Given the description of an element on the screen output the (x, y) to click on. 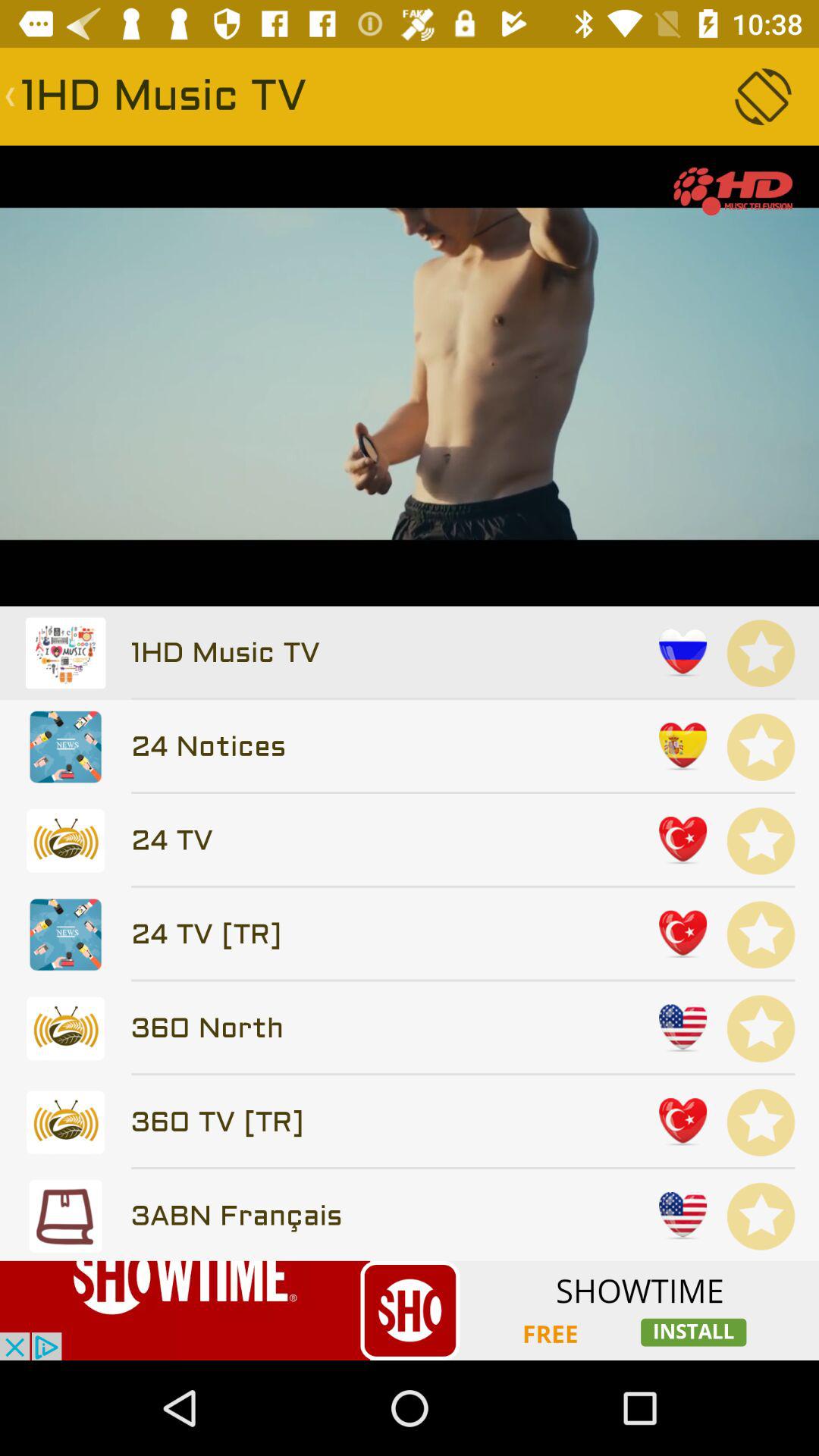
view the advertisement (409, 1310)
